Given the description of an element on the screen output the (x, y) to click on. 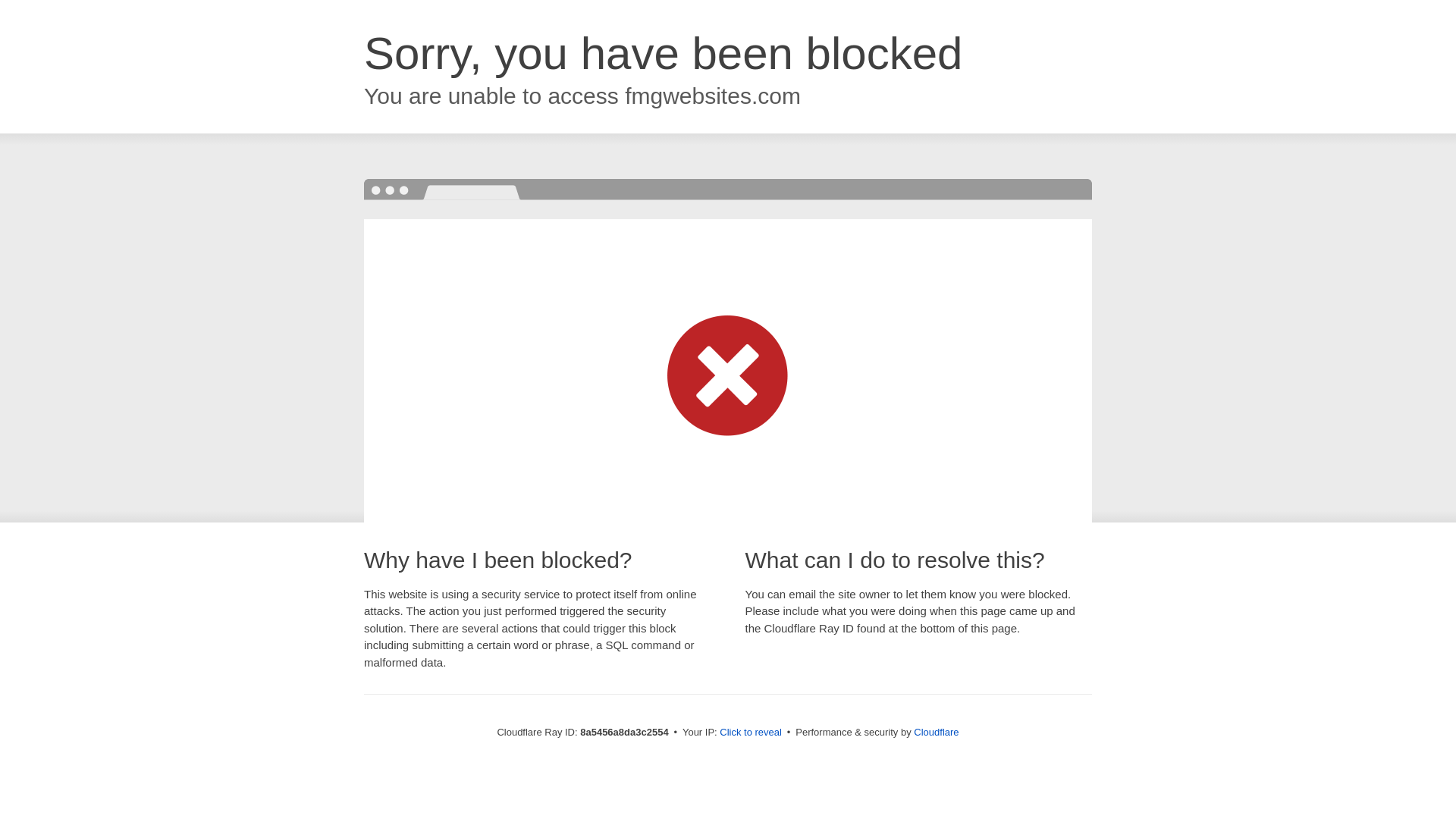
Click to reveal (750, 732)
Cloudflare (936, 731)
